Given the description of an element on the screen output the (x, y) to click on. 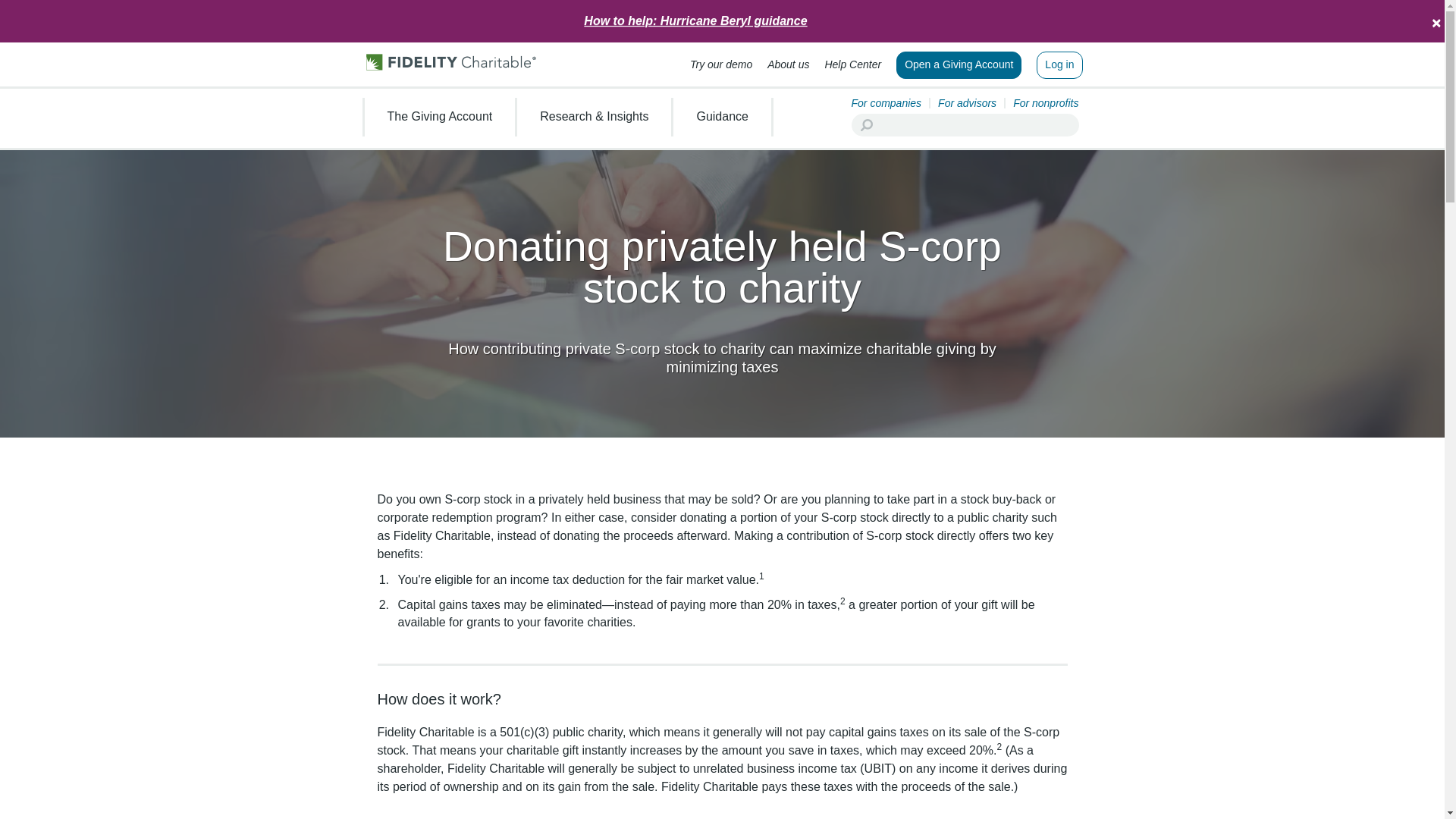
Open a Giving Account (959, 64)
For advisors (966, 102)
For nonprofits (1045, 102)
How to help: Hurricane Beryl guidance (694, 20)
The Giving Account (439, 115)
Try our demo (721, 60)
For companies (885, 102)
About us (788, 60)
Help Center (852, 60)
Log in (1058, 64)
Guidance (721, 115)
